Given the description of an element on the screen output the (x, y) to click on. 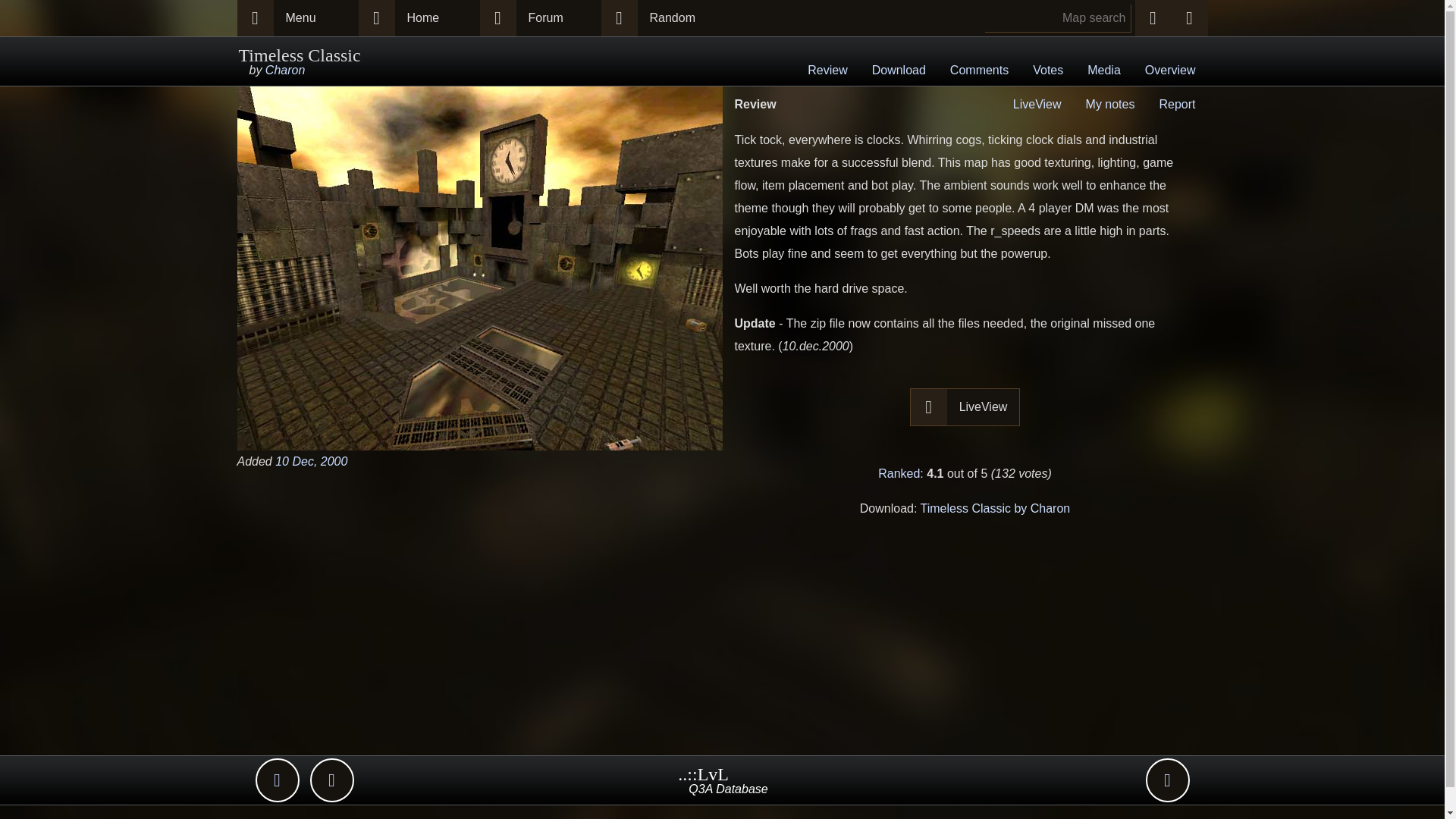
Download (898, 70)
10 Dec, 2000 (311, 461)
View this map in your browser (1037, 103)
Login or register (1188, 18)
Menu (315, 18)
Home (436, 18)
Forum (557, 18)
Charon (284, 69)
LiveView (983, 407)
